Given the description of an element on the screen output the (x, y) to click on. 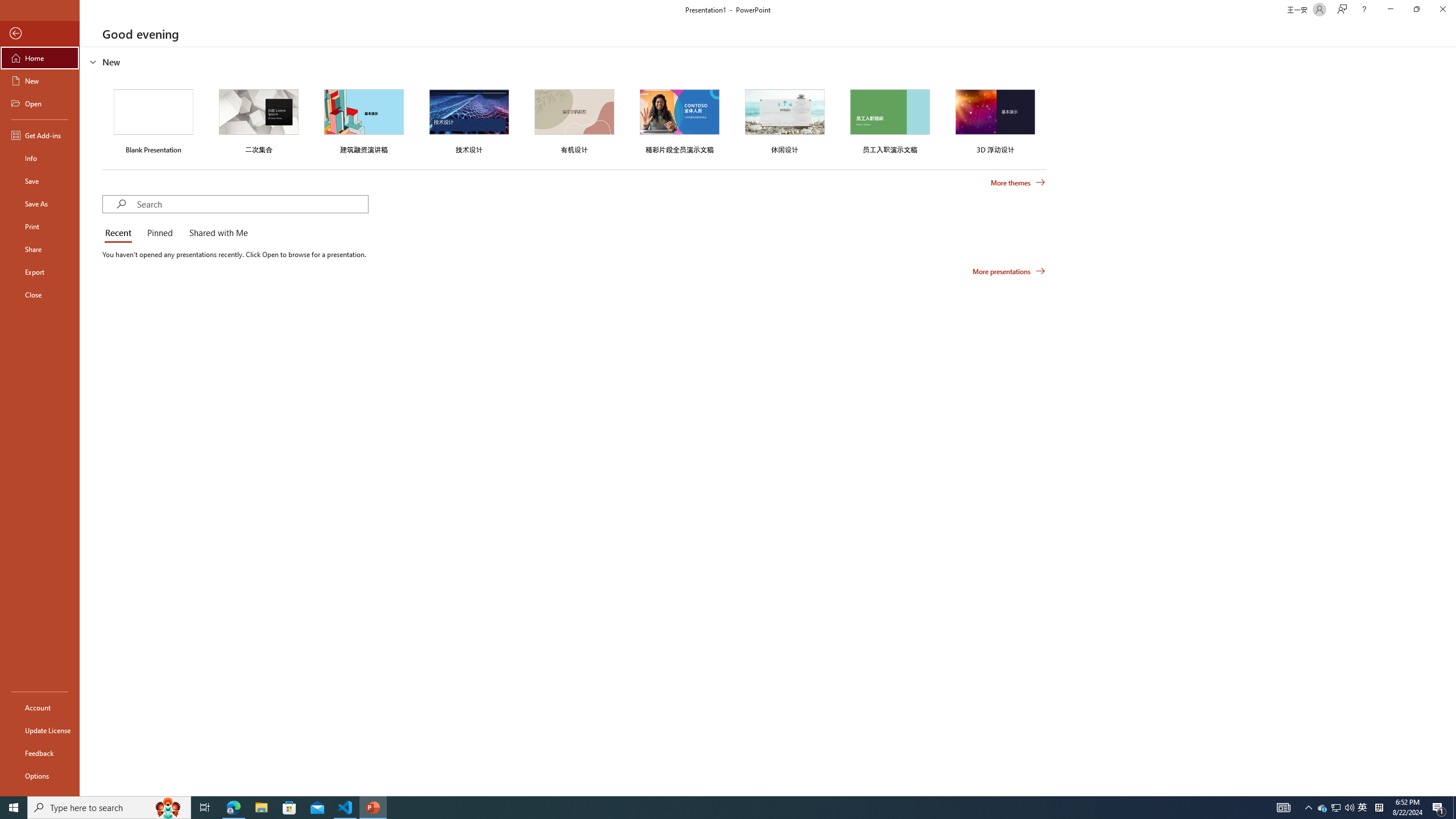
Class: NetUIScrollBar (1450, 421)
Recent (119, 233)
Update License (40, 730)
Info (40, 157)
New (40, 80)
Save As (40, 203)
